Given the description of an element on the screen output the (x, y) to click on. 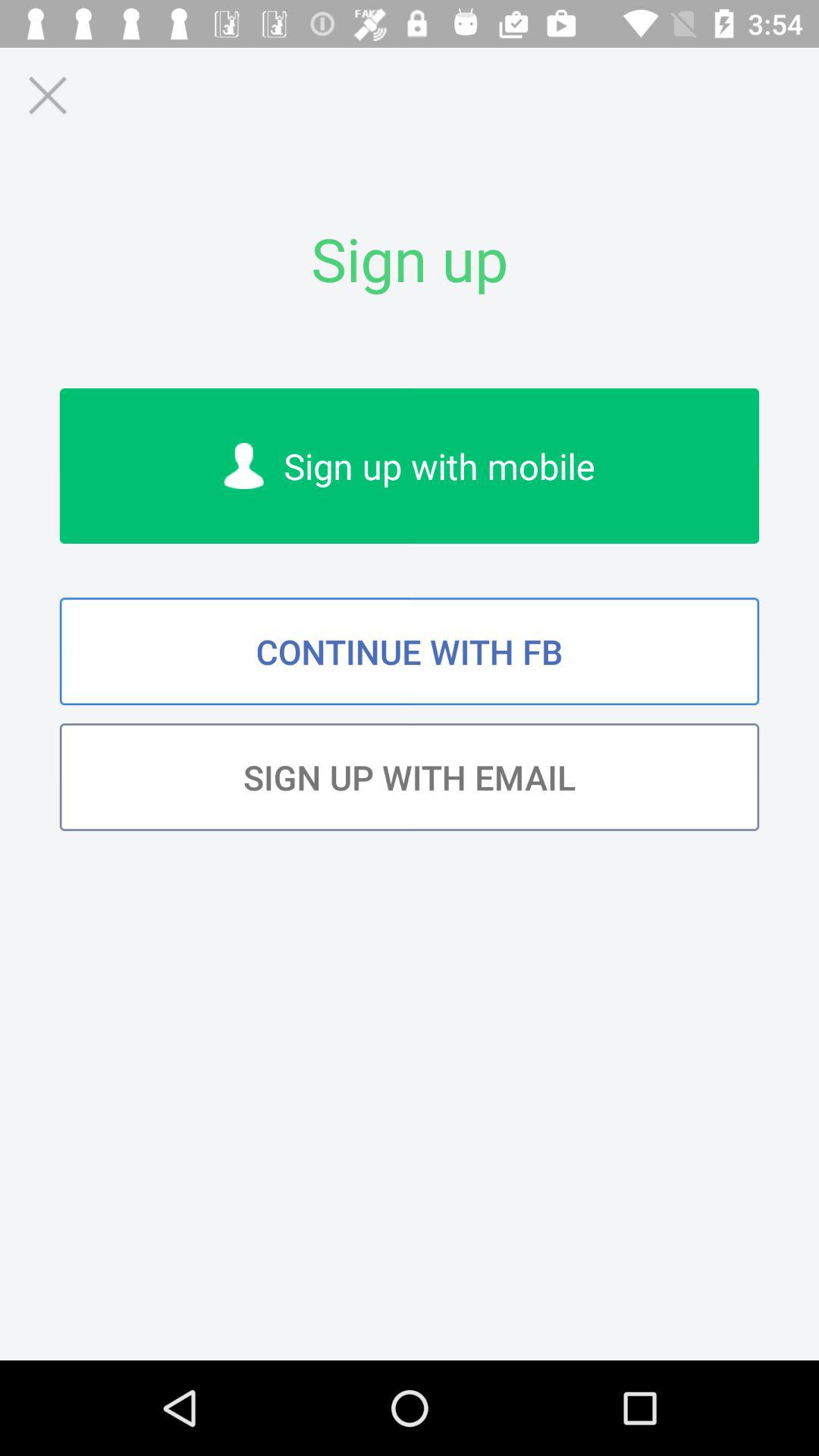
close page (47, 95)
